Given the description of an element on the screen output the (x, y) to click on. 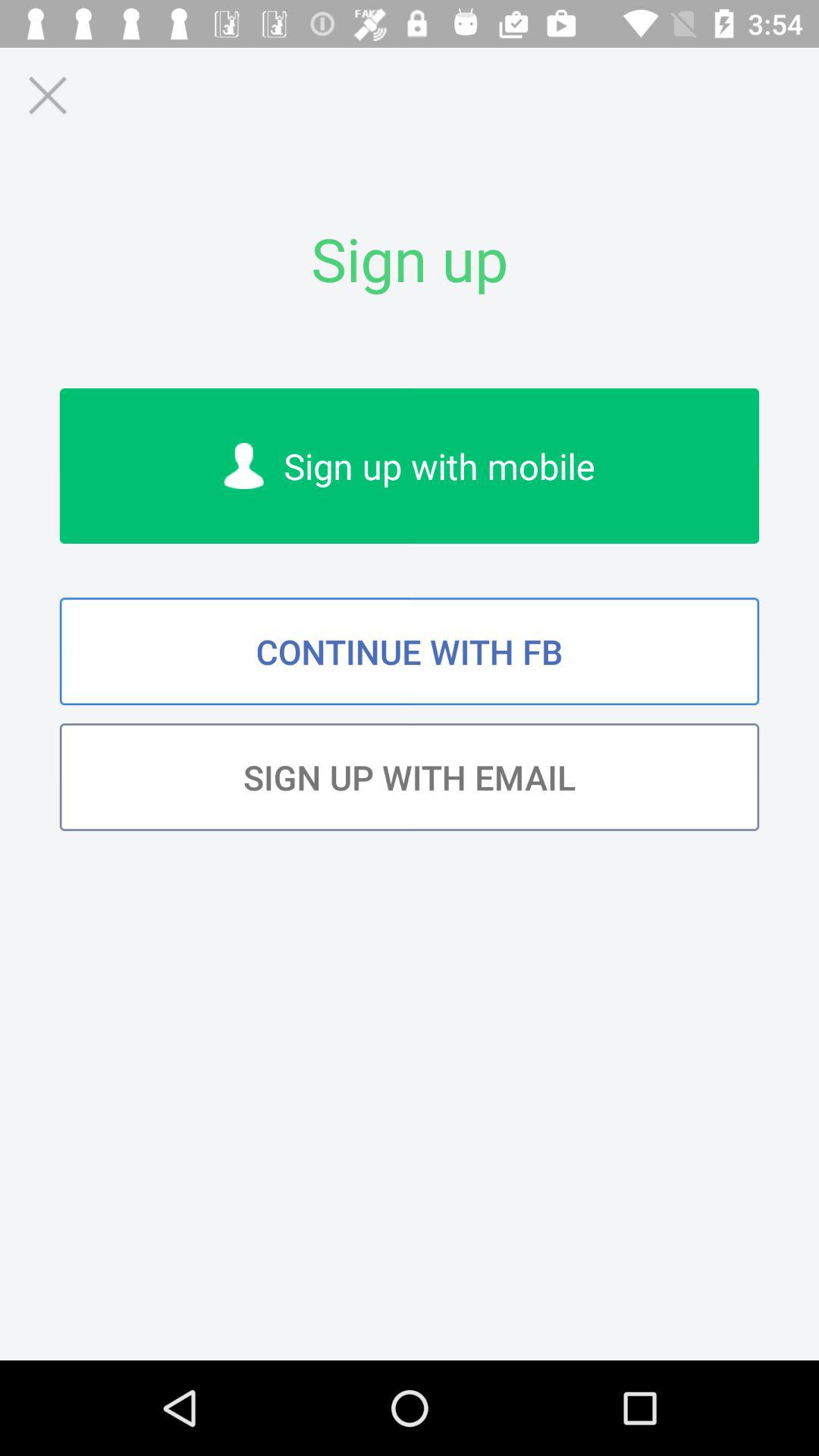
close page (47, 95)
